Given the description of an element on the screen output the (x, y) to click on. 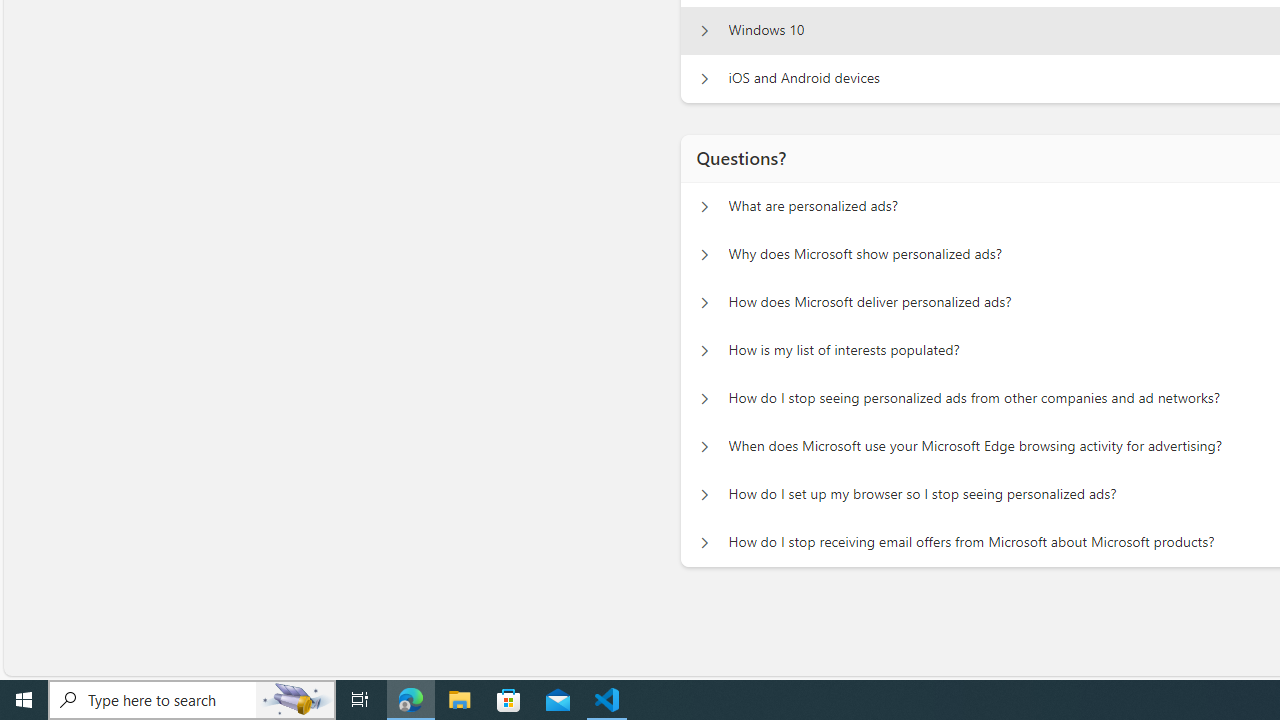
Questions? How does Microsoft deliver personalized ads? (704, 302)
Manage personalized ads on your device Windows 10 (704, 30)
Questions? How is my list of interests populated? (704, 350)
Questions? What are personalized ads? (704, 206)
Questions? Why does Microsoft show personalized ads? (704, 255)
